Given the description of an element on the screen output the (x, y) to click on. 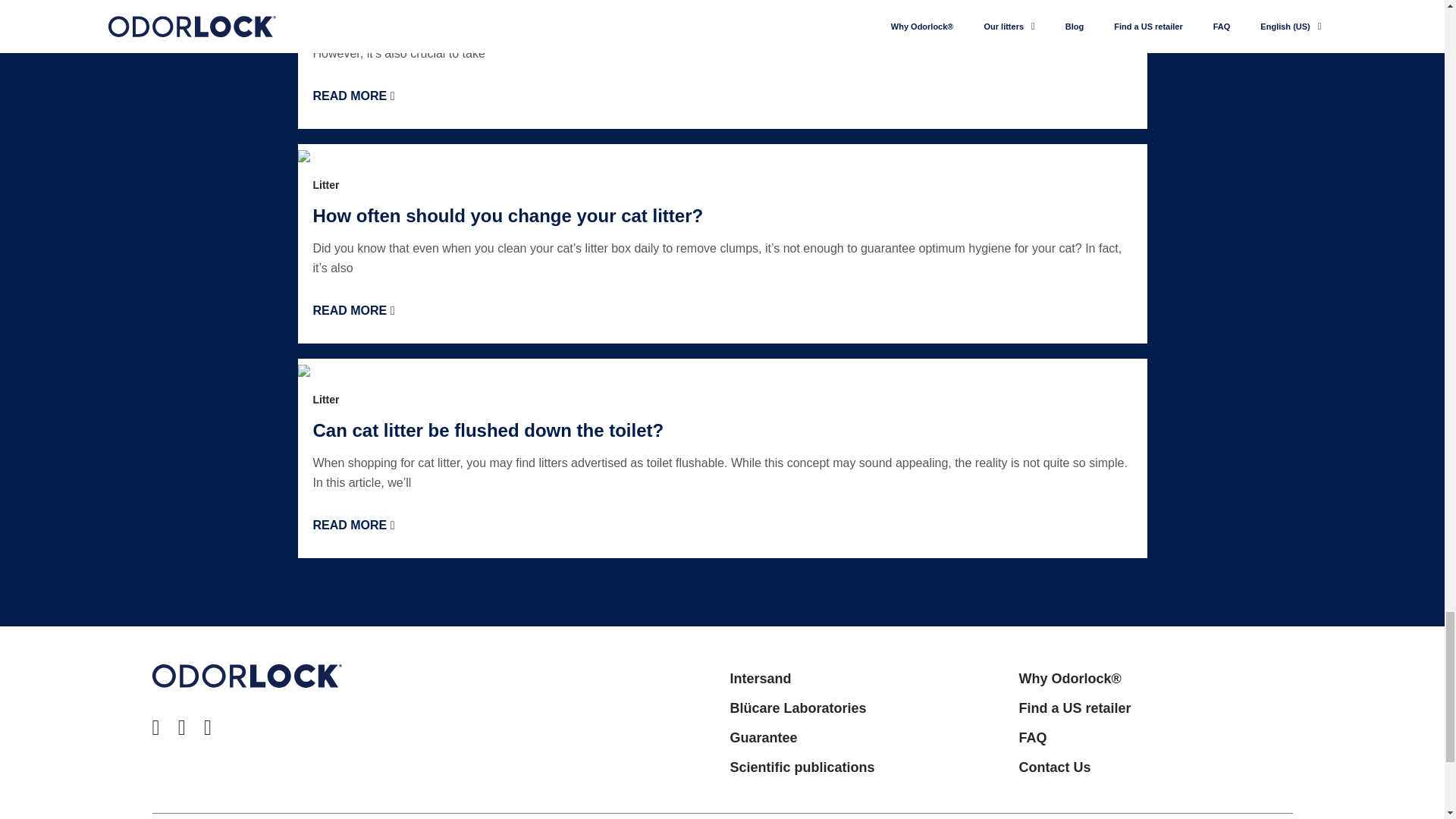
Litter (326, 399)
READ MORE (353, 524)
How often should you change your cat litter? (508, 215)
READ MORE (353, 95)
READ MORE (353, 309)
Litter (326, 184)
Can cat litter be flushed down the toilet? (488, 430)
